Given the description of an element on the screen output the (x, y) to click on. 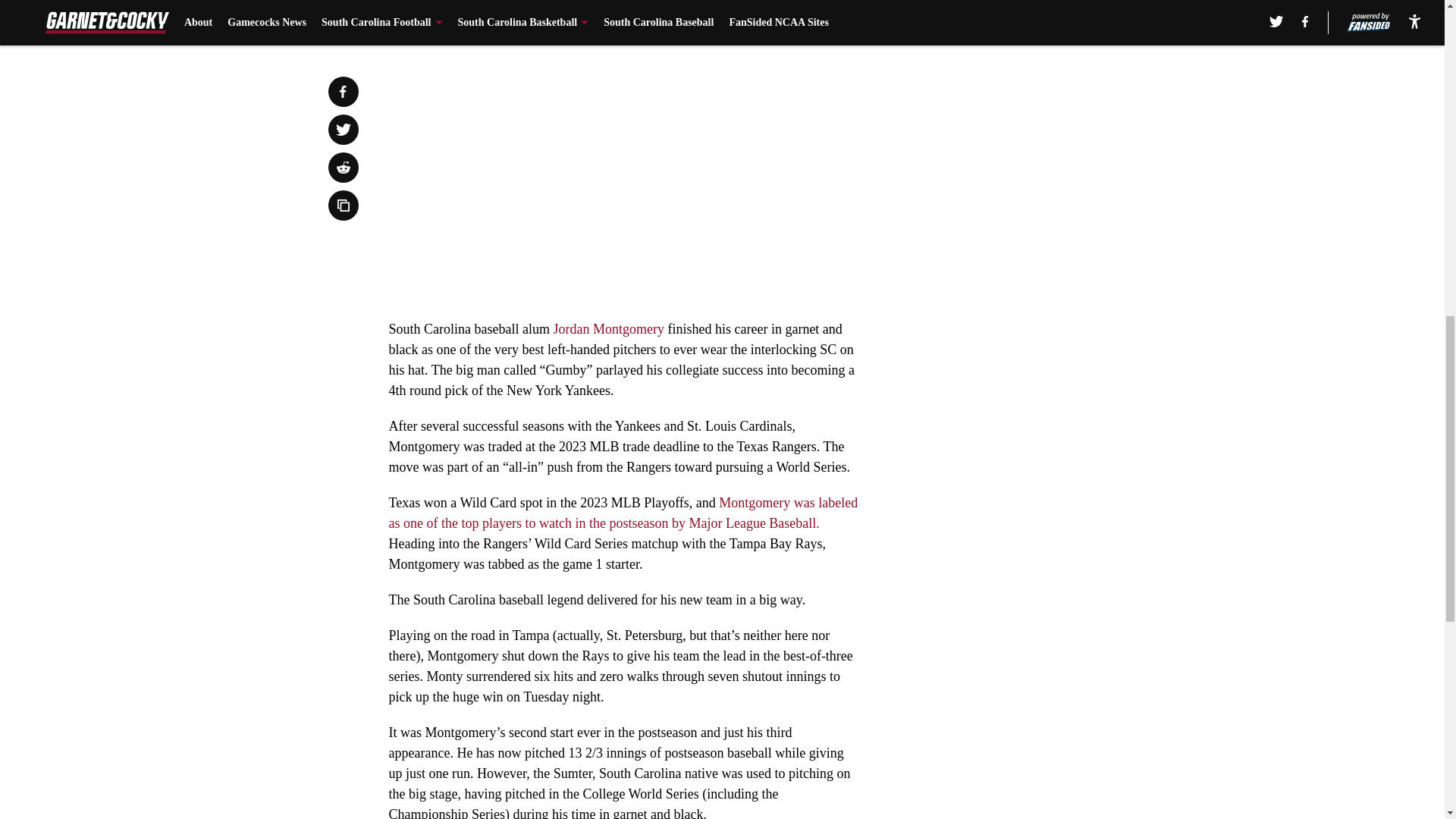
Jordan Montgomery (608, 328)
